Given the description of an element on the screen output the (x, y) to click on. 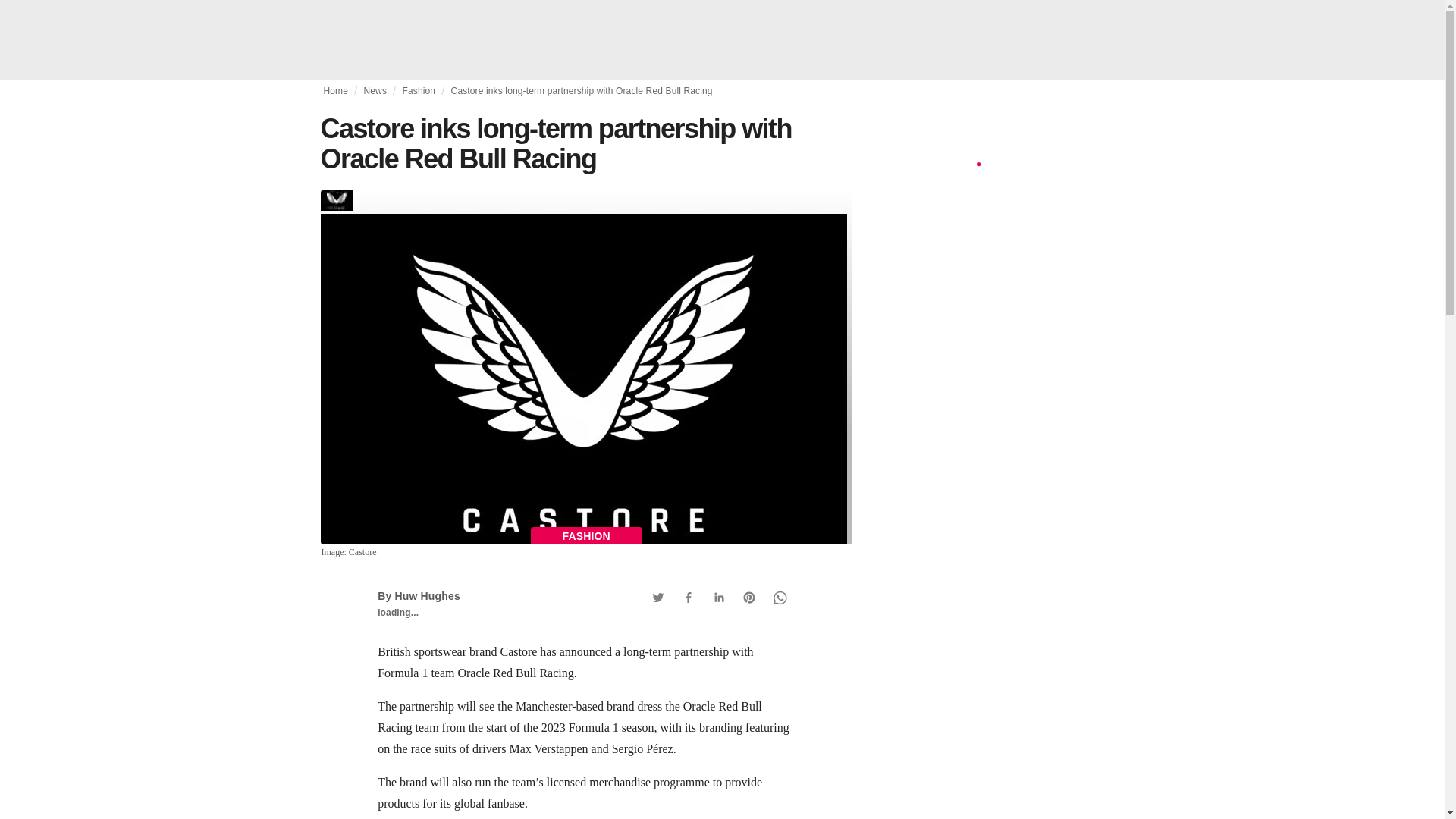
News (375, 90)
Fashion (418, 90)
Home (335, 90)
By Huw Hughes (418, 595)
